Given the description of an element on the screen output the (x, y) to click on. 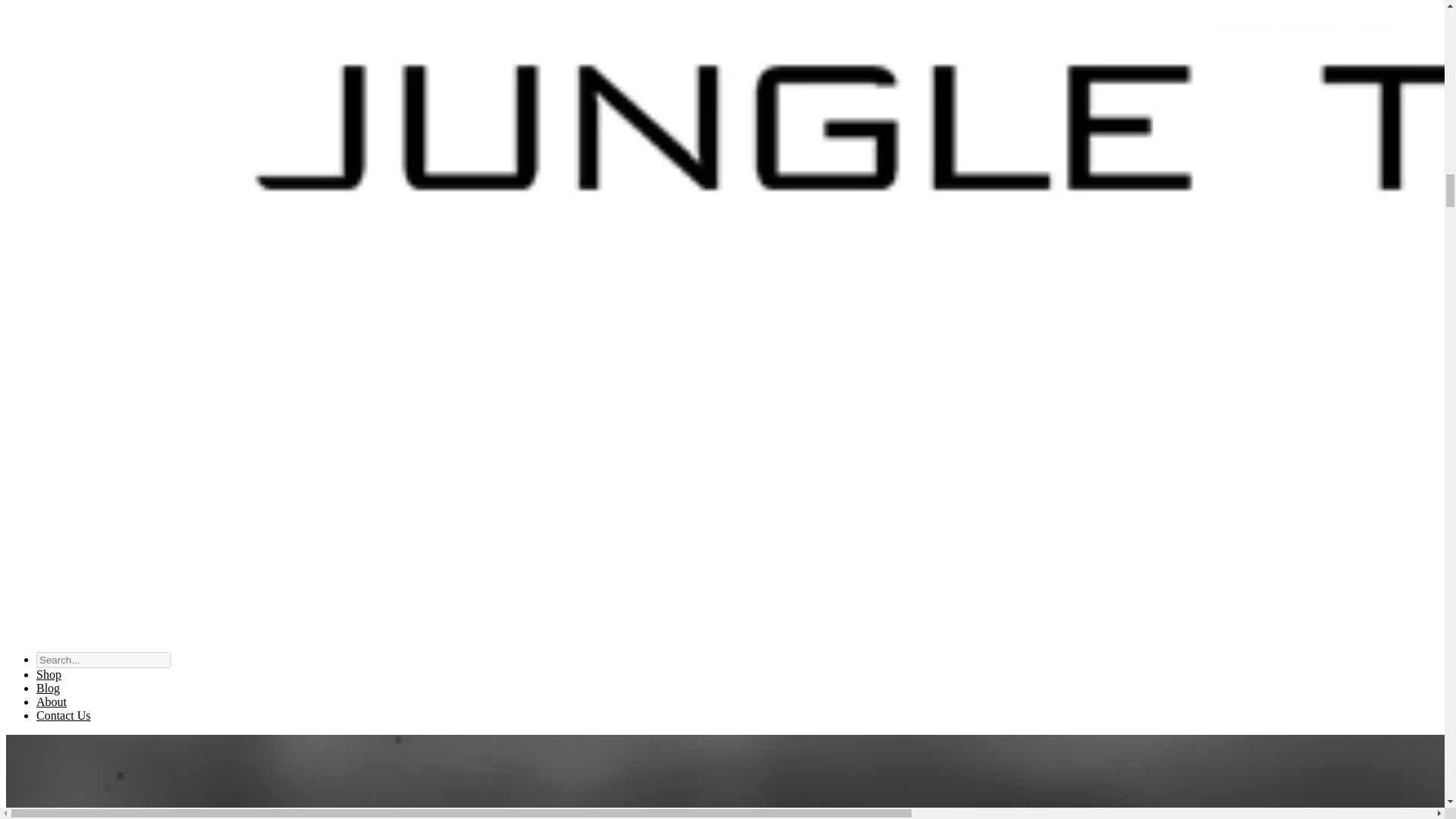
Shop (48, 674)
About (51, 701)
Blog (47, 687)
Contact Us (63, 715)
